Given the description of an element on the screen output the (x, y) to click on. 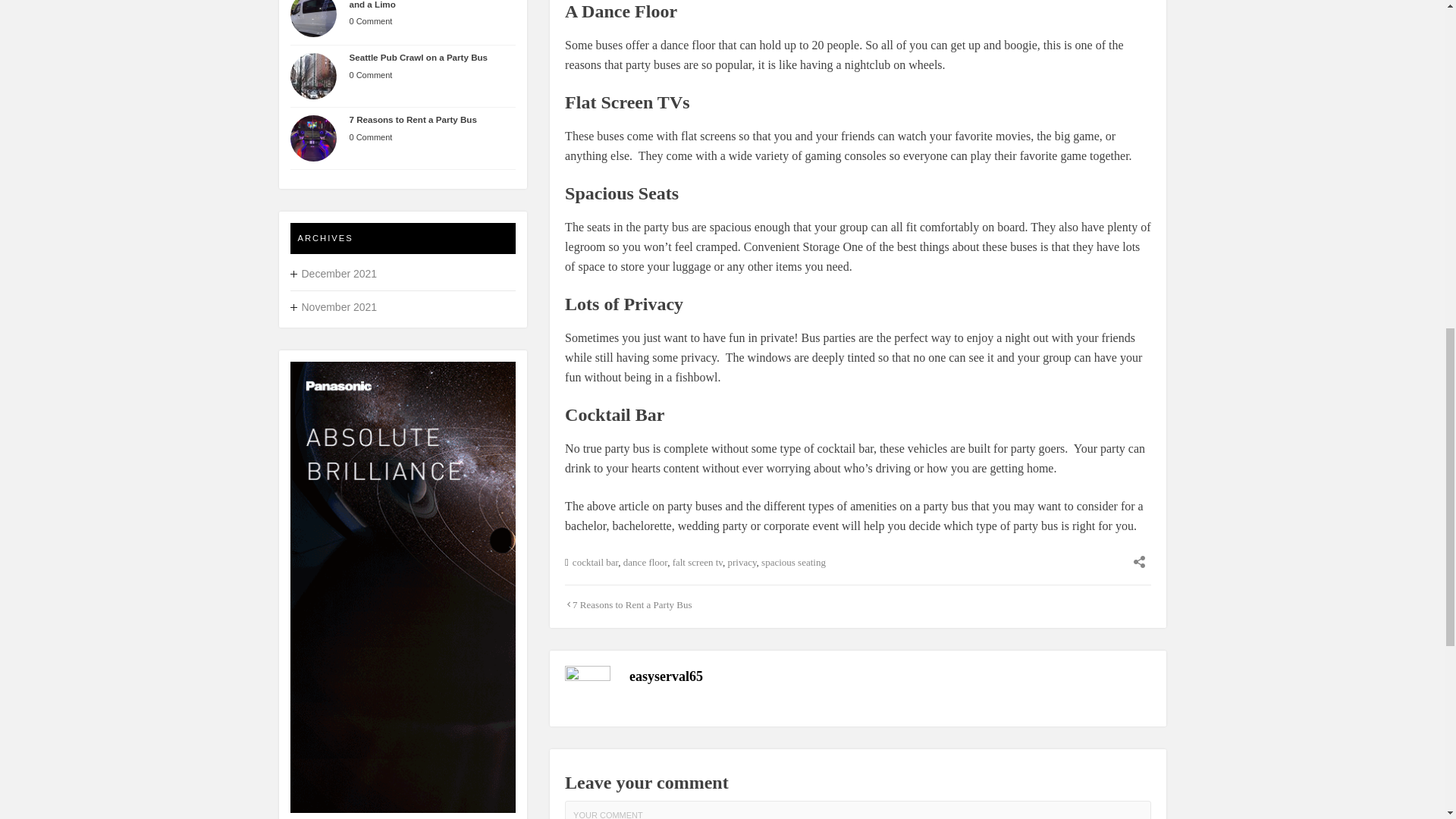
falt screen tv (697, 562)
Seattle Pub Crawl on a Party Bus (418, 57)
privacy (740, 562)
0 Comment (370, 74)
cocktail bar (594, 562)
easyserval65 (665, 676)
7 Reasons to Rent a Party Bus (631, 604)
The Difference Between a Party Bus and a Limo (424, 4)
spacious seating (793, 562)
0 Comment (370, 136)
7 Reasons to Rent a Party Bus (412, 119)
dance floor (644, 562)
0 Comment (370, 20)
